Given the description of an element on the screen output the (x, y) to click on. 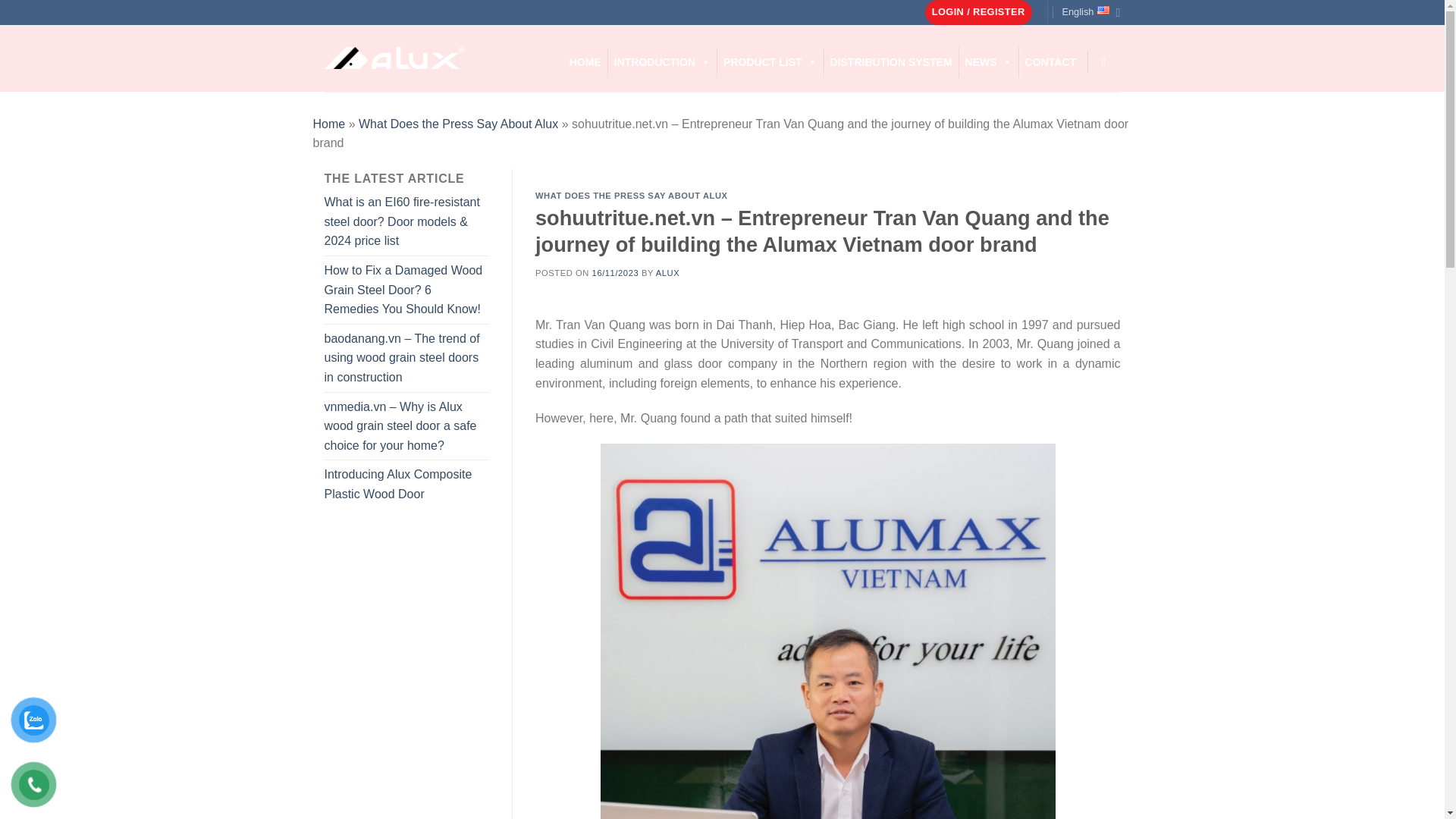
DISTRIBUTION SYSTEM (891, 61)
English (1090, 12)
INTRODUCTION (662, 61)
CONTACT (1050, 61)
PRODUCT LIST (769, 61)
NEWS (988, 61)
HOME (585, 61)
